Given the description of an element on the screen output the (x, y) to click on. 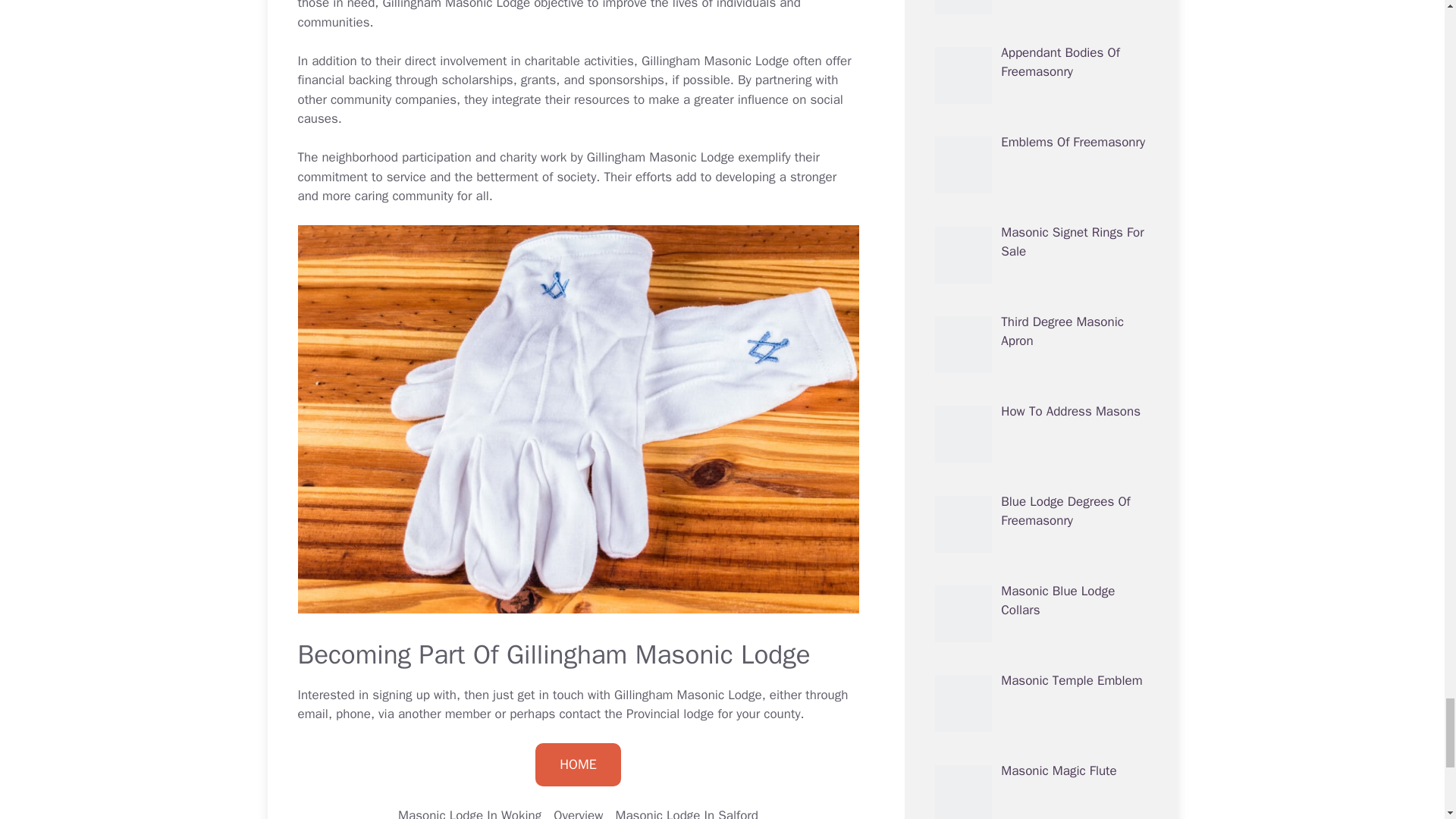
Masonic Lodge In Woking (469, 813)
Masonic Lodge In Salford (685, 813)
Overview (577, 813)
HOME (578, 764)
